Given the description of an element on the screen output the (x, y) to click on. 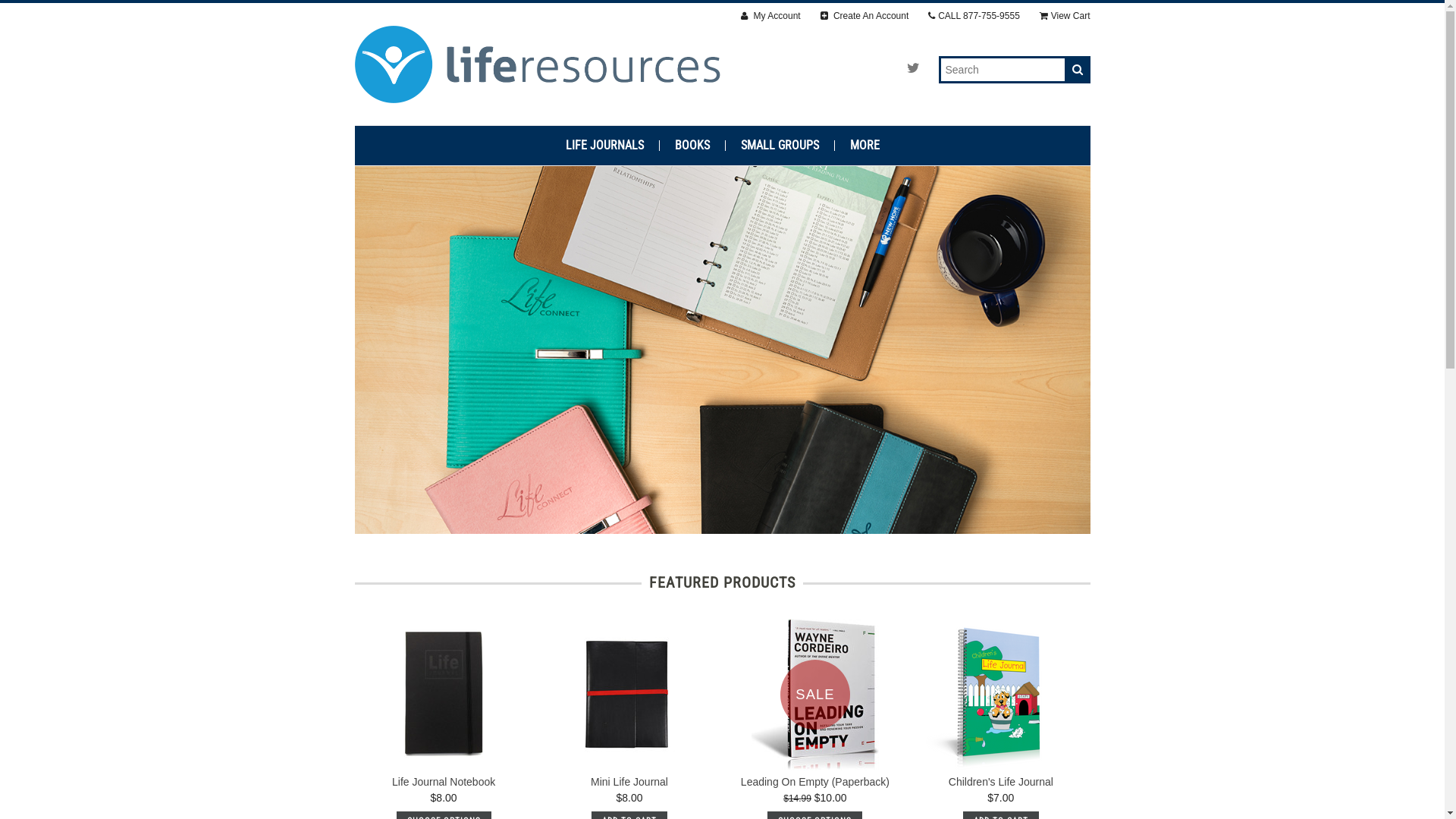
Life Journal Notebook Element type: text (443, 781)
Mini Life Journal Element type: text (629, 781)
CALL 877-755-9555 Element type: text (973, 16)
Twitter Element type: hover (912, 68)
SALE Element type: text (814, 694)
Create An Account Element type: text (864, 16)
SMALL GROUPS Element type: text (779, 145)
Leading On Empty (Paperback) Element type: text (814, 781)
MORE Element type: text (864, 145)
View Cart Element type: text (1064, 16)
BOOKS Element type: text (692, 145)
Children's Life Journal Element type: text (1000, 781)
LIFE JOURNALS Element type: text (604, 145)
My Account Element type: text (770, 16)
